Given the description of an element on the screen output the (x, y) to click on. 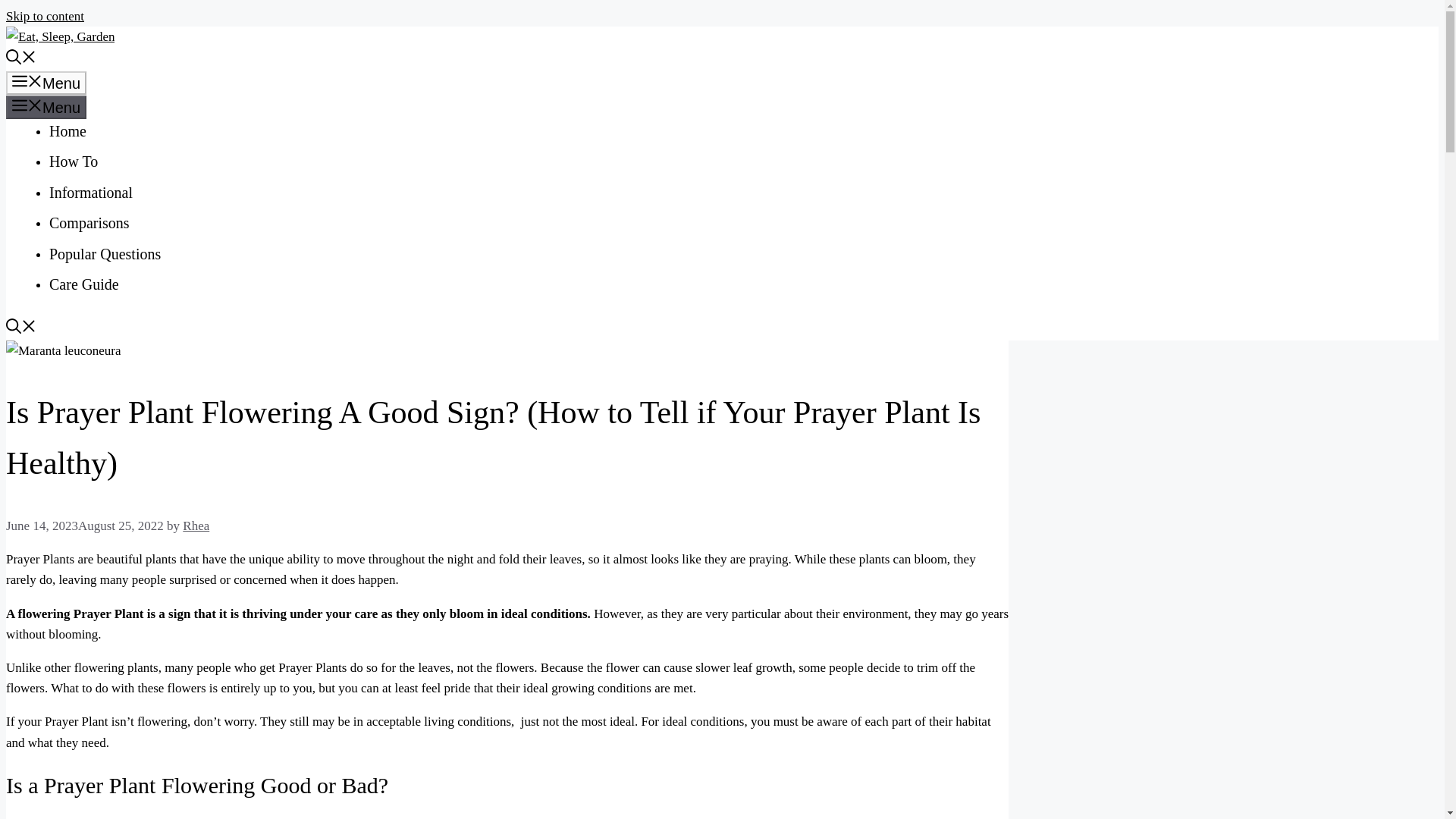
Home (67, 130)
Informational (90, 192)
Skip to content (44, 16)
Care Guide (84, 284)
View all posts by Rhea (196, 525)
How To (73, 161)
Skip to content (44, 16)
Comparisons (89, 222)
Popular Questions (104, 253)
Menu (45, 106)
Rhea (196, 525)
Menu (45, 83)
